Given the description of an element on the screen output the (x, y) to click on. 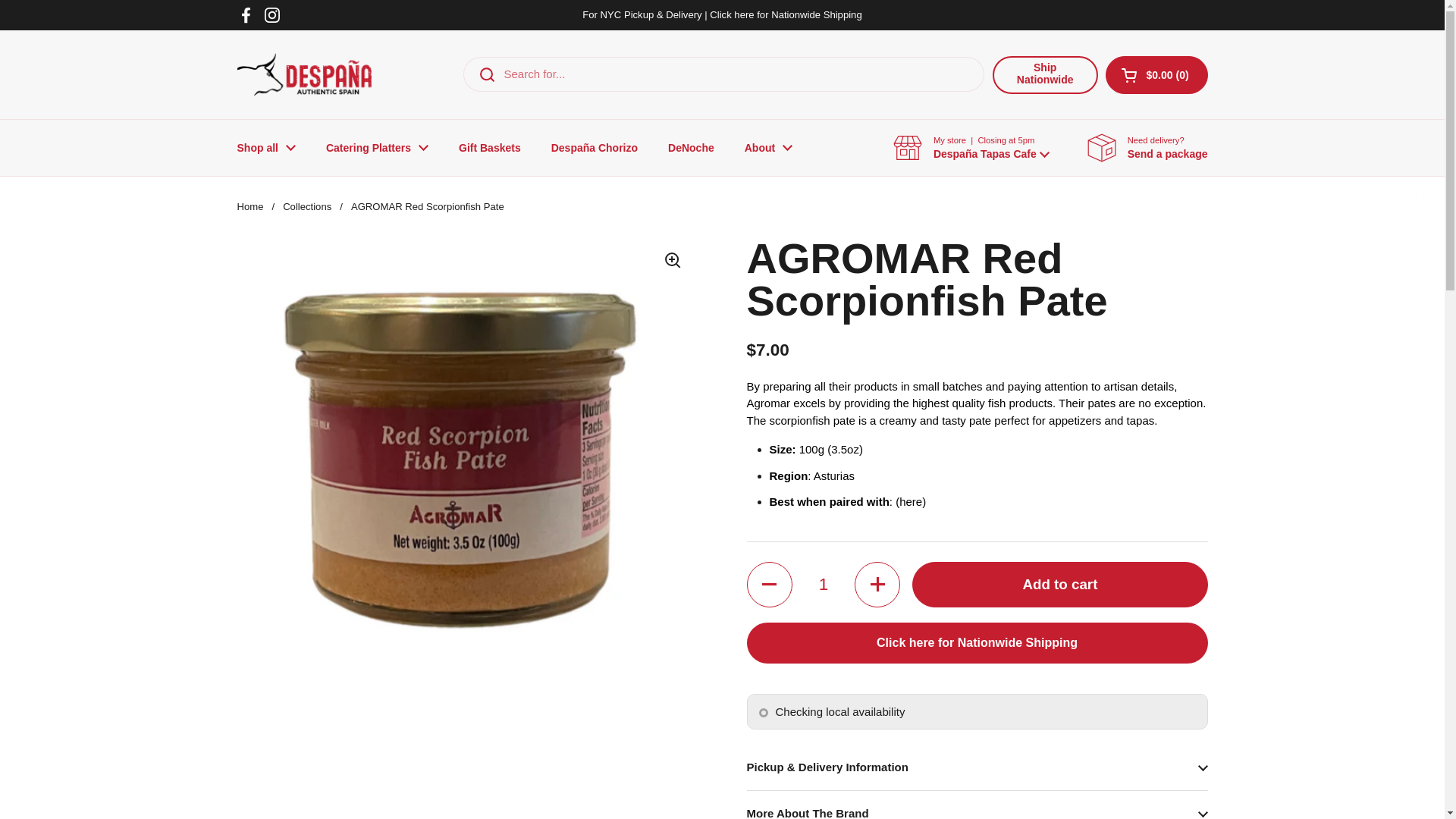
Shop all (265, 147)
Catering Platters (377, 147)
Facebook (244, 14)
Instagram (271, 14)
Open cart (1044, 75)
Gift Baskets (1156, 75)
DeNoche (489, 147)
1 (690, 147)
Catering Platters (822, 584)
